Given the description of an element on the screen output the (x, y) to click on. 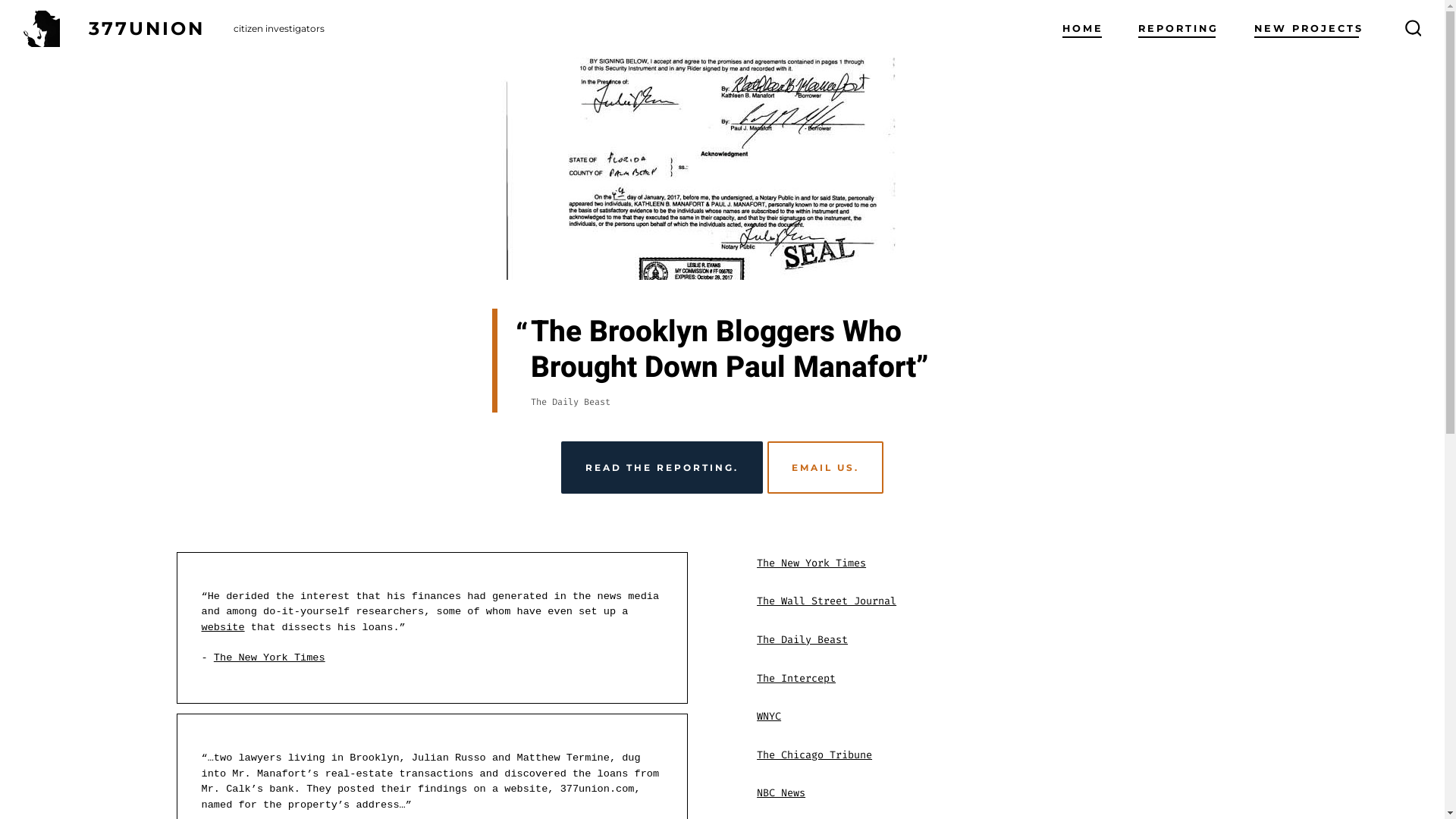
SEARCH TOGGLE Element type: text (1413, 28)
WNYC Element type: text (768, 715)
The Intercept Element type: text (795, 677)
REPORTING Element type: text (1178, 29)
The Daily Beast Element type: text (801, 639)
The Wall Street Journal Element type: text (826, 600)
The New York Times Element type: text (811, 562)
EMAIL US. Element type: text (825, 467)
The Chicago Tribune Element type: text (814, 754)
HOME Element type: text (1082, 29)
The New York Times Element type: text (269, 657)
website Element type: text (222, 627)
377UNION Element type: text (131, 28)
NBC News Element type: text (780, 792)
READ THE REPORTING. Element type: text (661, 467)
NEW PROJECTS Element type: text (1308, 29)
